Given the description of an element on the screen output the (x, y) to click on. 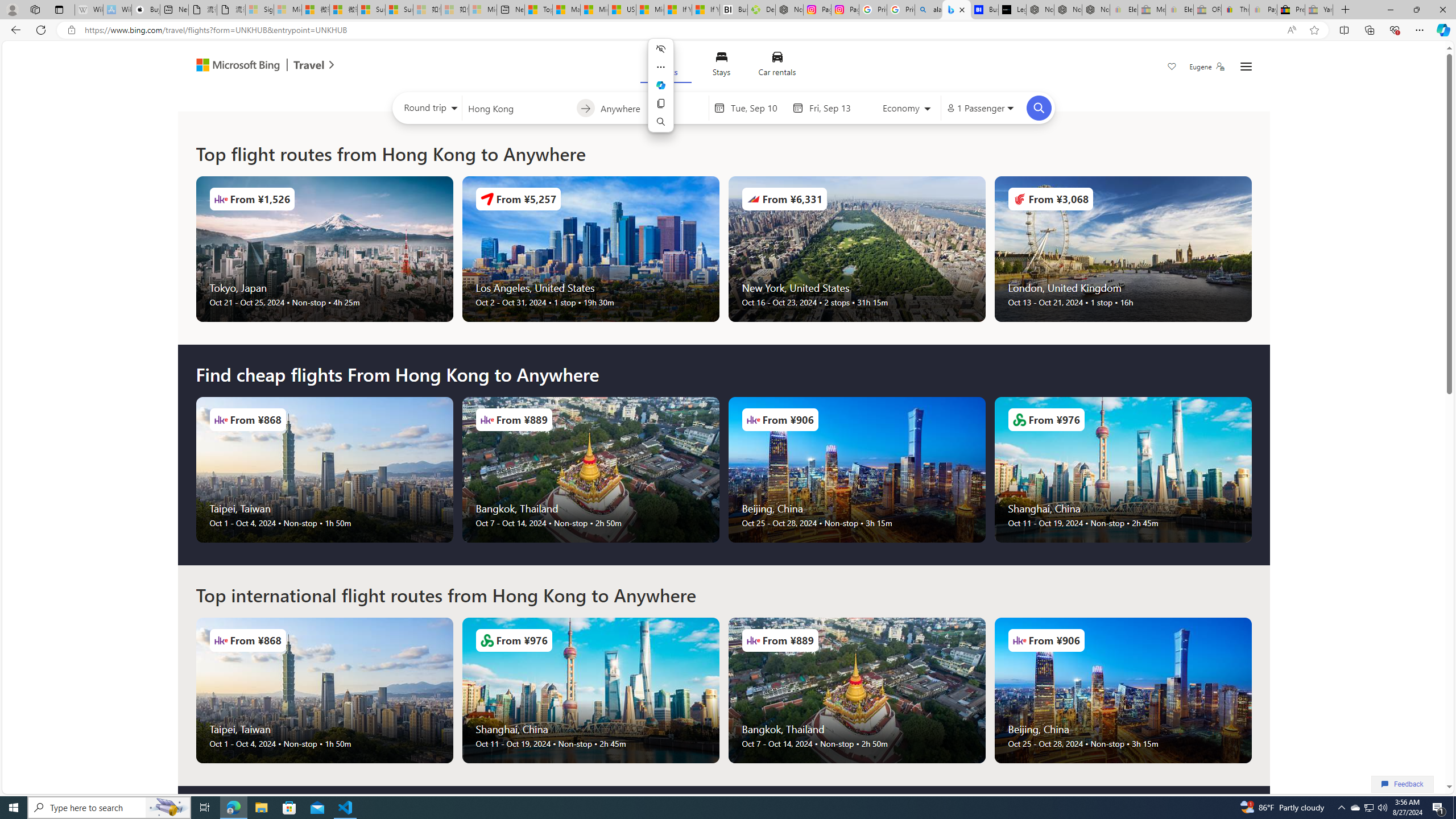
Microsoft account | Account Checkup - Sleeping (483, 9)
Hide menu (659, 49)
Stays (720, 65)
Copy (659, 103)
Payments Terms of Use | eBay.com - Sleeping (1262, 9)
More actions (659, 67)
Threats and offensive language policy | eBay (1235, 9)
Start Date (758, 107)
